Given the description of an element on the screen output the (x, y) to click on. 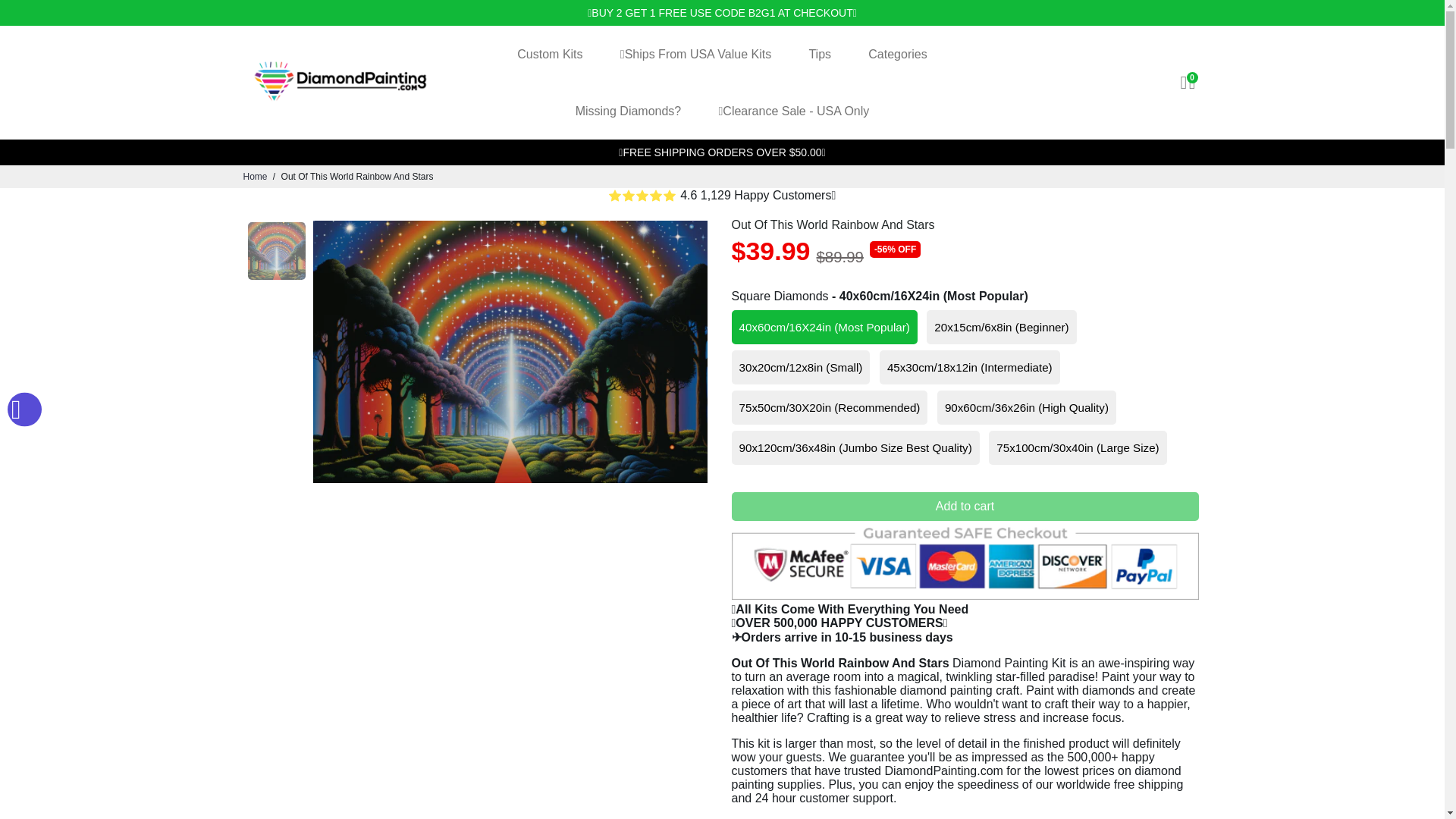
Tips (819, 53)
Missing Diamonds? (628, 110)
Categories (897, 53)
Home (254, 176)
Add to cart (964, 506)
Home (254, 176)
Custom Kits (549, 53)
